Given the description of an element on the screen output the (x, y) to click on. 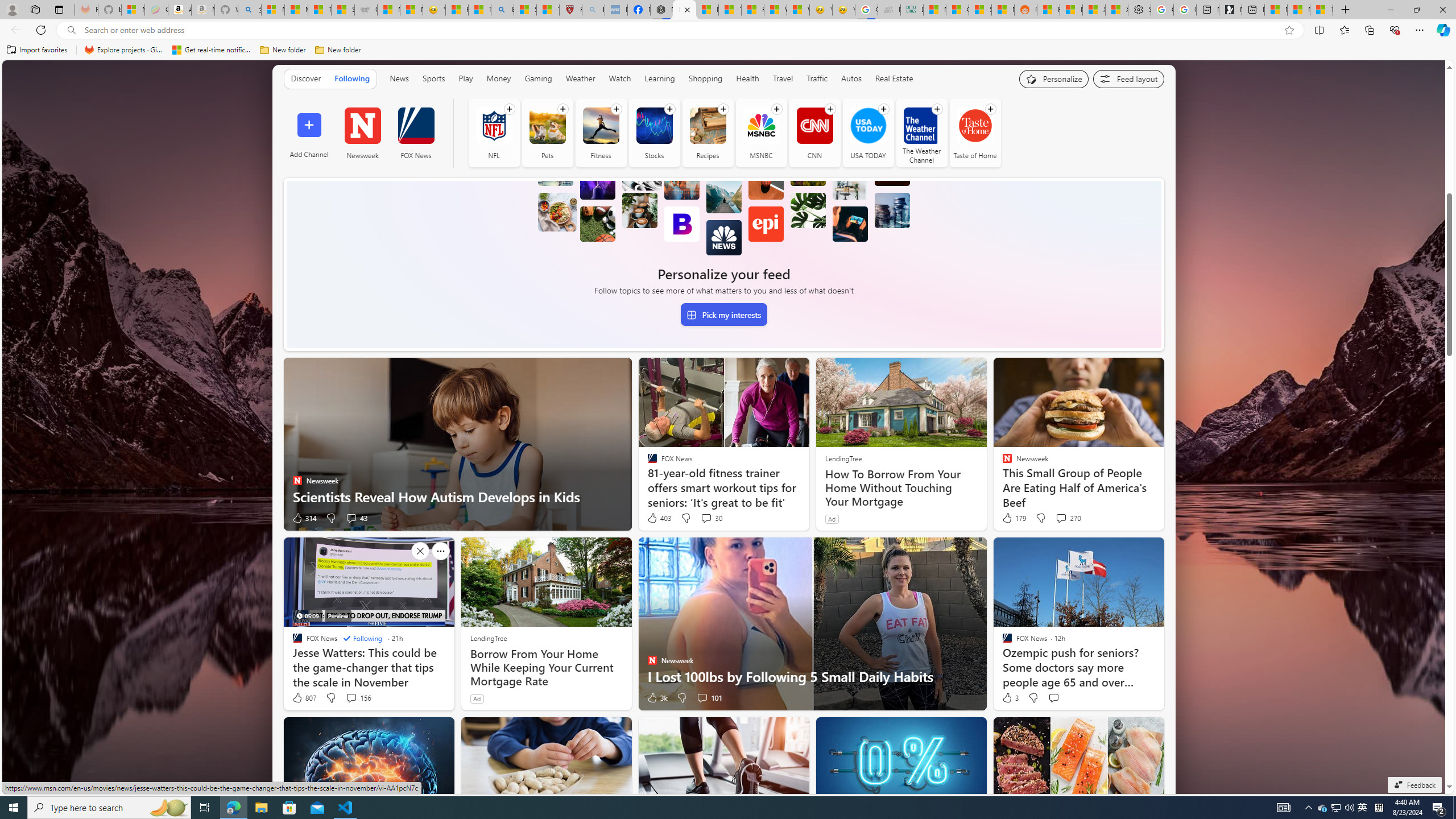
Stocks (653, 133)
Feed settings (1128, 78)
